Given the description of an element on the screen output the (x, y) to click on. 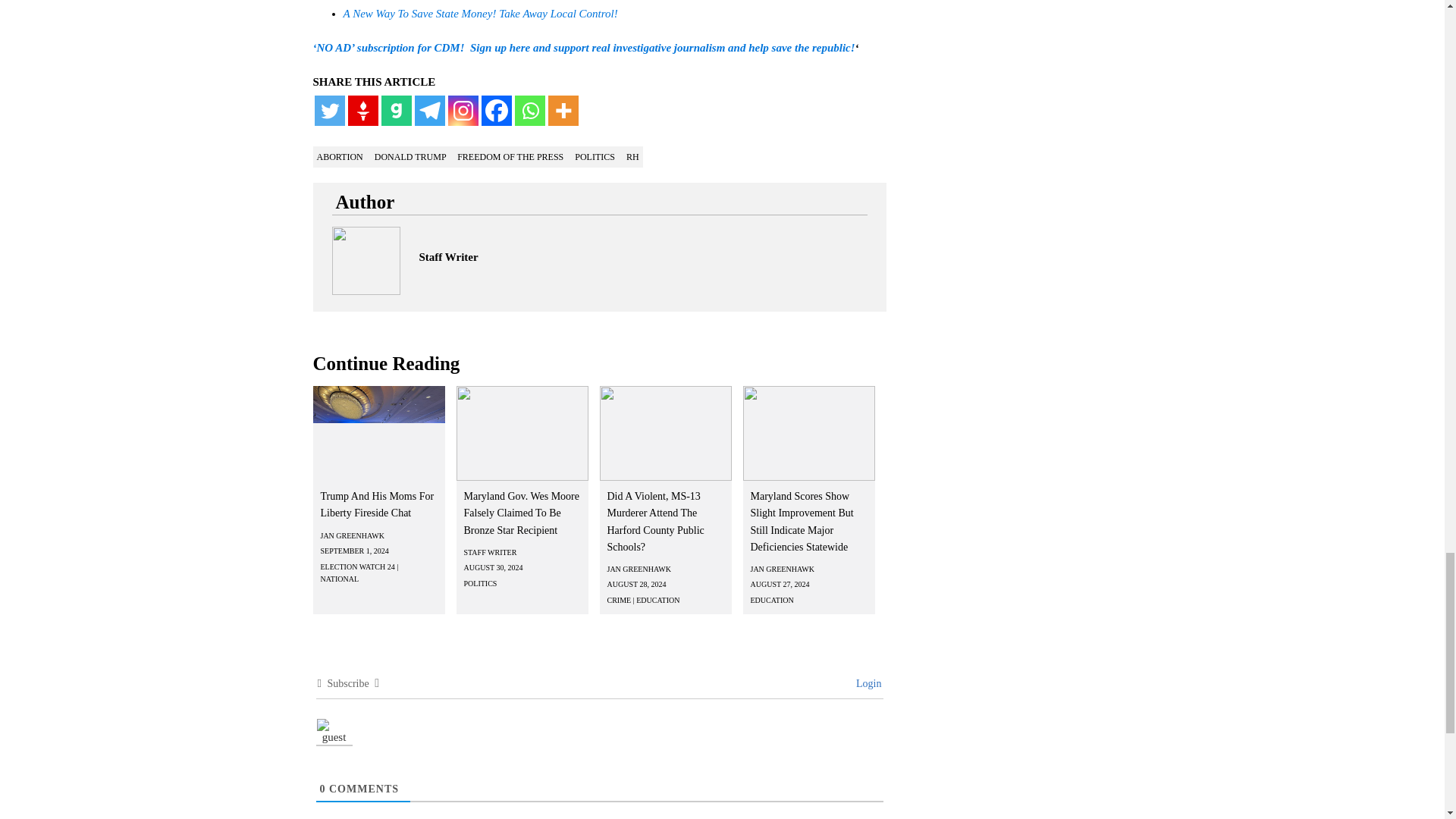
RH (632, 156)
Whatsapp (528, 110)
Gettr (362, 110)
Staff Writer (448, 256)
More (562, 110)
ntrol! (604, 13)
Telegram (428, 110)
Instagram (461, 110)
Gab (395, 110)
A New Way To Save State Money! Take Away Local Co (467, 13)
